Given the description of an element on the screen output the (x, y) to click on. 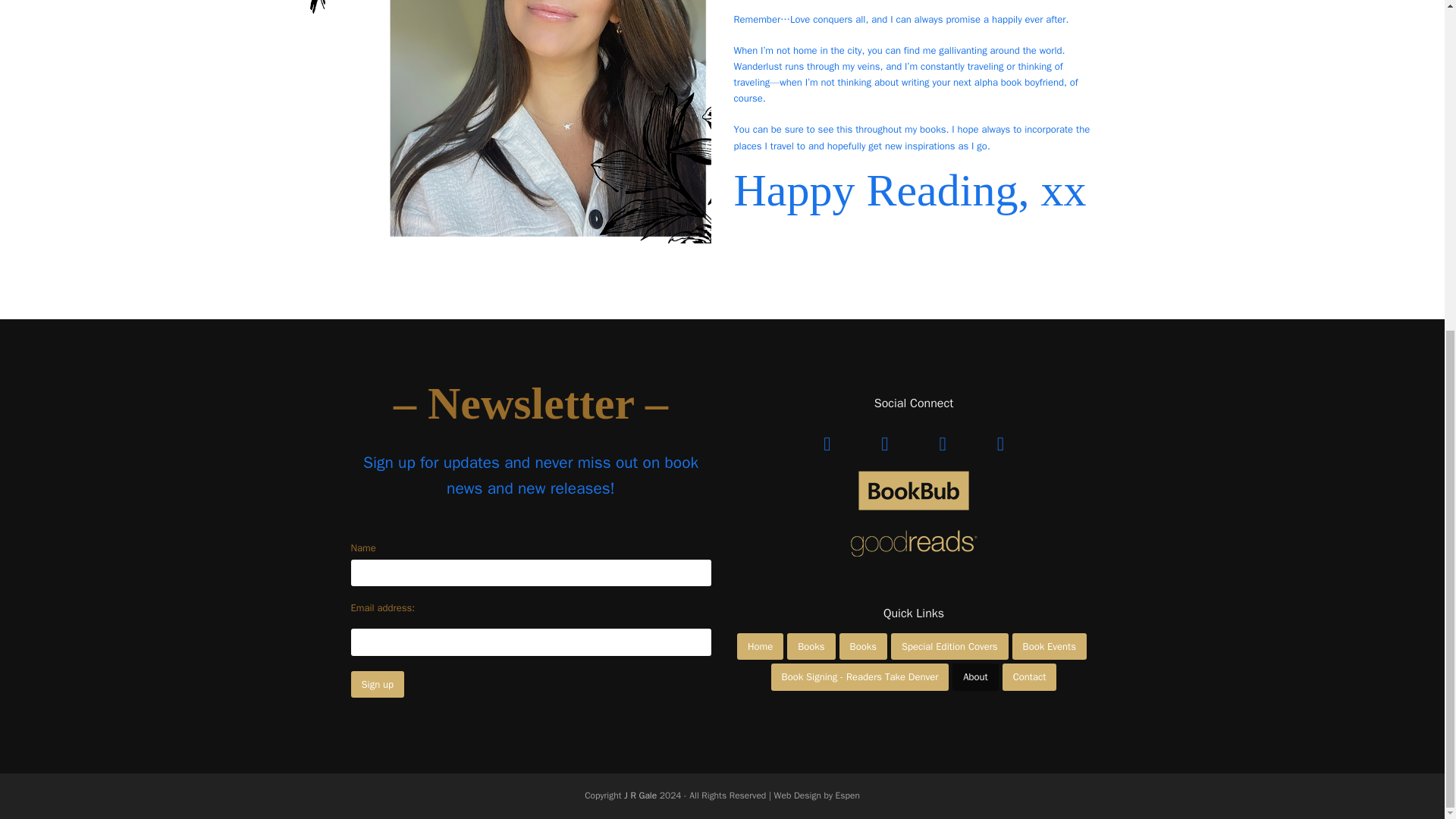
Home (759, 646)
Book Events (1048, 646)
Books (810, 646)
Book Signing - Readers Take Denver (860, 676)
Light-gold-goodreads (914, 543)
J R Gale (641, 795)
Contact (1030, 676)
Sign up (377, 683)
Pinterest (1000, 436)
Tiktok (942, 436)
Facebook (826, 436)
Books (863, 646)
Special Edition Covers (950, 646)
BB-logo-light-gold (914, 490)
Tiktok (942, 436)
